Given the description of an element on the screen output the (x, y) to click on. 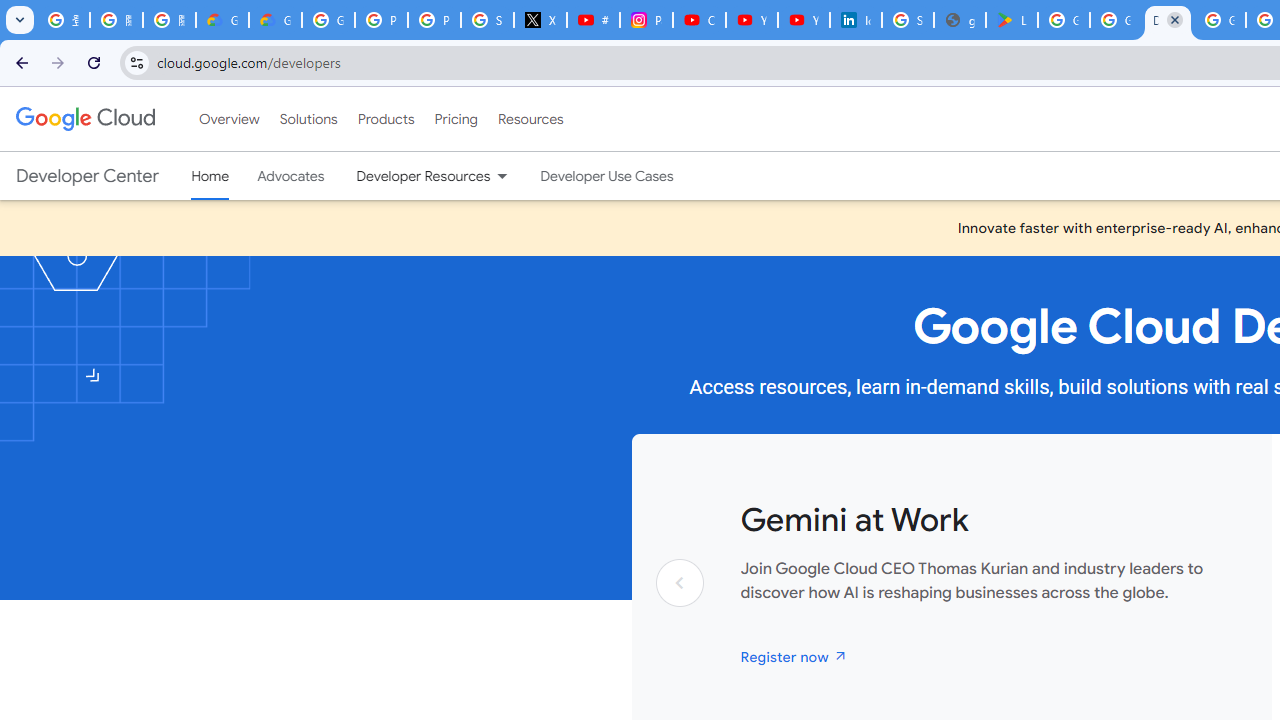
Products (385, 119)
Home, selected (210, 175)
Developer Use Cases (607, 175)
Google Cloud Platform (1219, 20)
Privacy Help Center - Policies Help (434, 20)
#nbabasketballhighlights - YouTube (593, 20)
Google Cloud (84, 118)
